Given the description of an element on the screen output the (x, y) to click on. 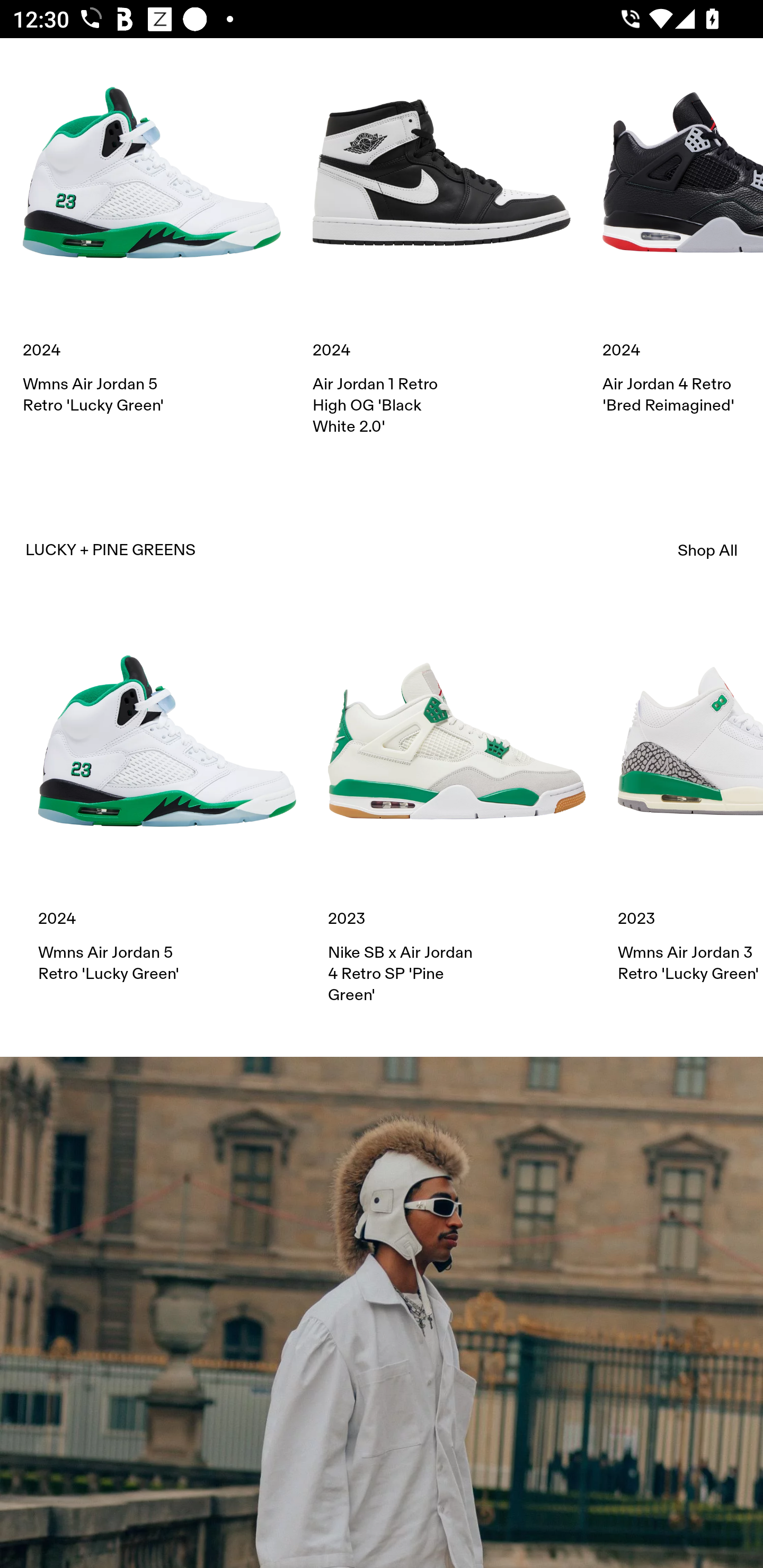
2024 Wmns Air Jordan 5 Retro 'Lucky Green' (151, 230)
2024 Air Jordan 1 Retro High OG 'Black White 2.0' (441, 240)
2024 Air Jordan 4 Retro 'Bred Reimagined' (682, 230)
Shop All (707, 550)
2024 Wmns Air Jordan 5 Retro 'Lucky Green' (167, 797)
2023 Nike SB x Air Jordan 4 Retro SP 'Pine Green' (456, 808)
2023 Wmns Air Jordan 3 Retro 'Lucky Green' (690, 797)
